Given the description of an element on the screen output the (x, y) to click on. 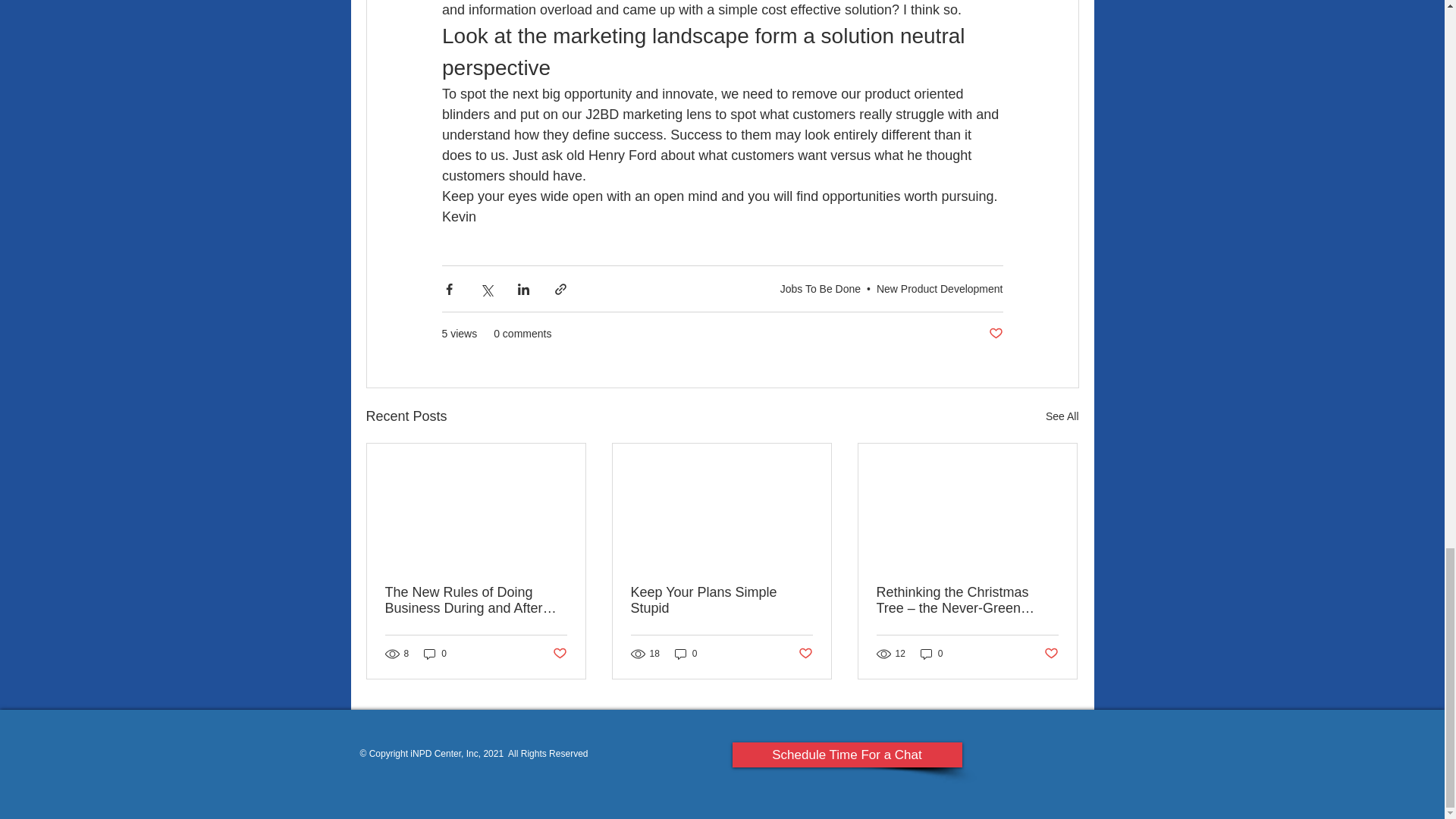
0 (685, 653)
Post not marked as liked (558, 653)
Jobs To Be Done (820, 287)
See All (1061, 416)
0 (435, 653)
New Product Development (939, 287)
Post not marked as liked (995, 333)
The New Rules of Doing Business During and After Covid-19 (476, 600)
Keep Your Plans Simple Stupid (721, 600)
Post not marked as liked (804, 653)
